Given the description of an element on the screen output the (x, y) to click on. 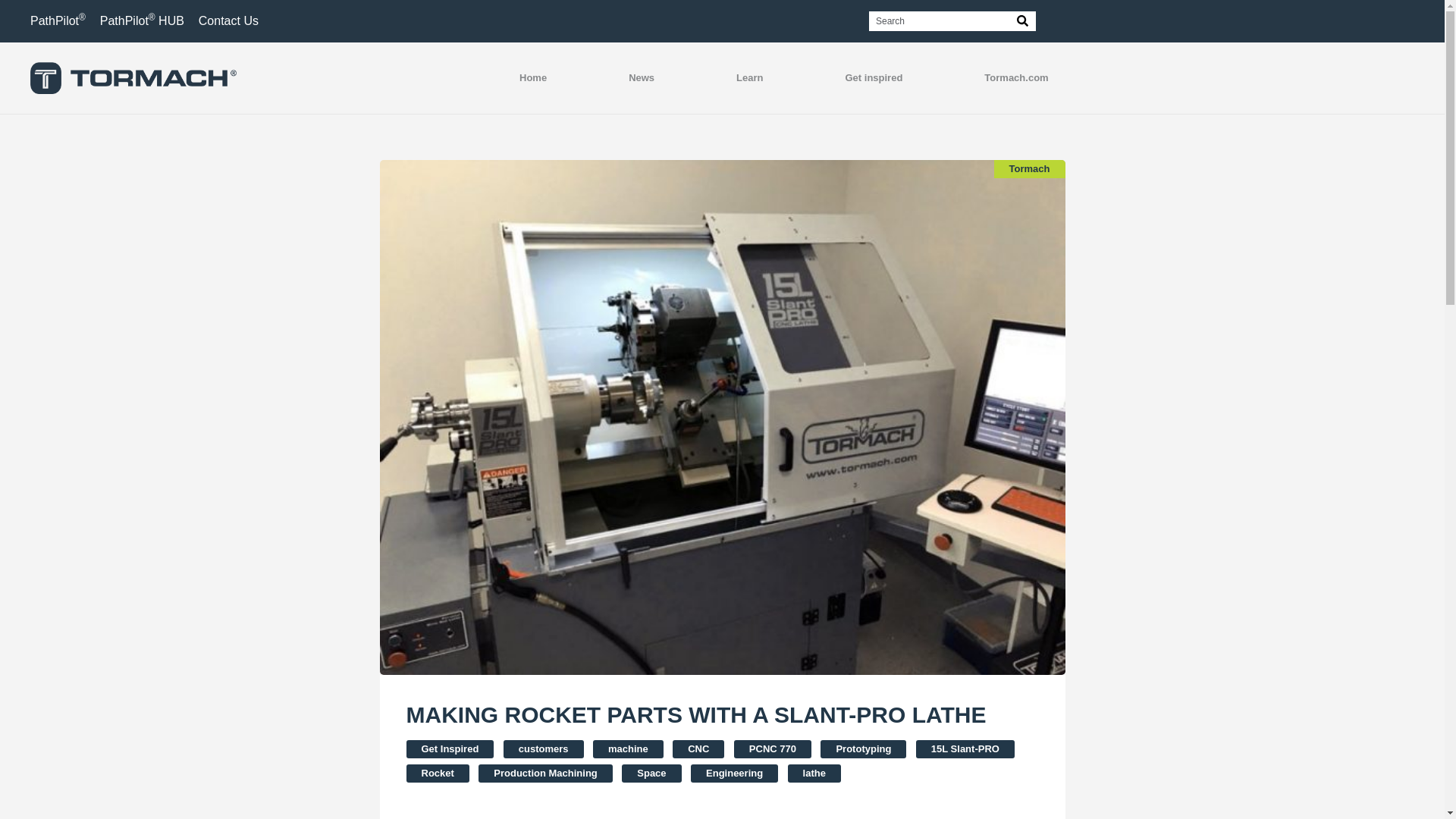
Contact Us (228, 20)
Tormach.com (1016, 77)
Space (651, 773)
lathe (814, 773)
Tormach (1029, 168)
Rocket (437, 773)
customers (543, 749)
Production Machining (545, 773)
Engineering (733, 773)
PCNC 770 (771, 749)
machine (627, 749)
Prototyping (863, 749)
CNC (697, 749)
Get Inspired (450, 749)
15L Slant-PRO (964, 749)
